Given the description of an element on the screen output the (x, y) to click on. 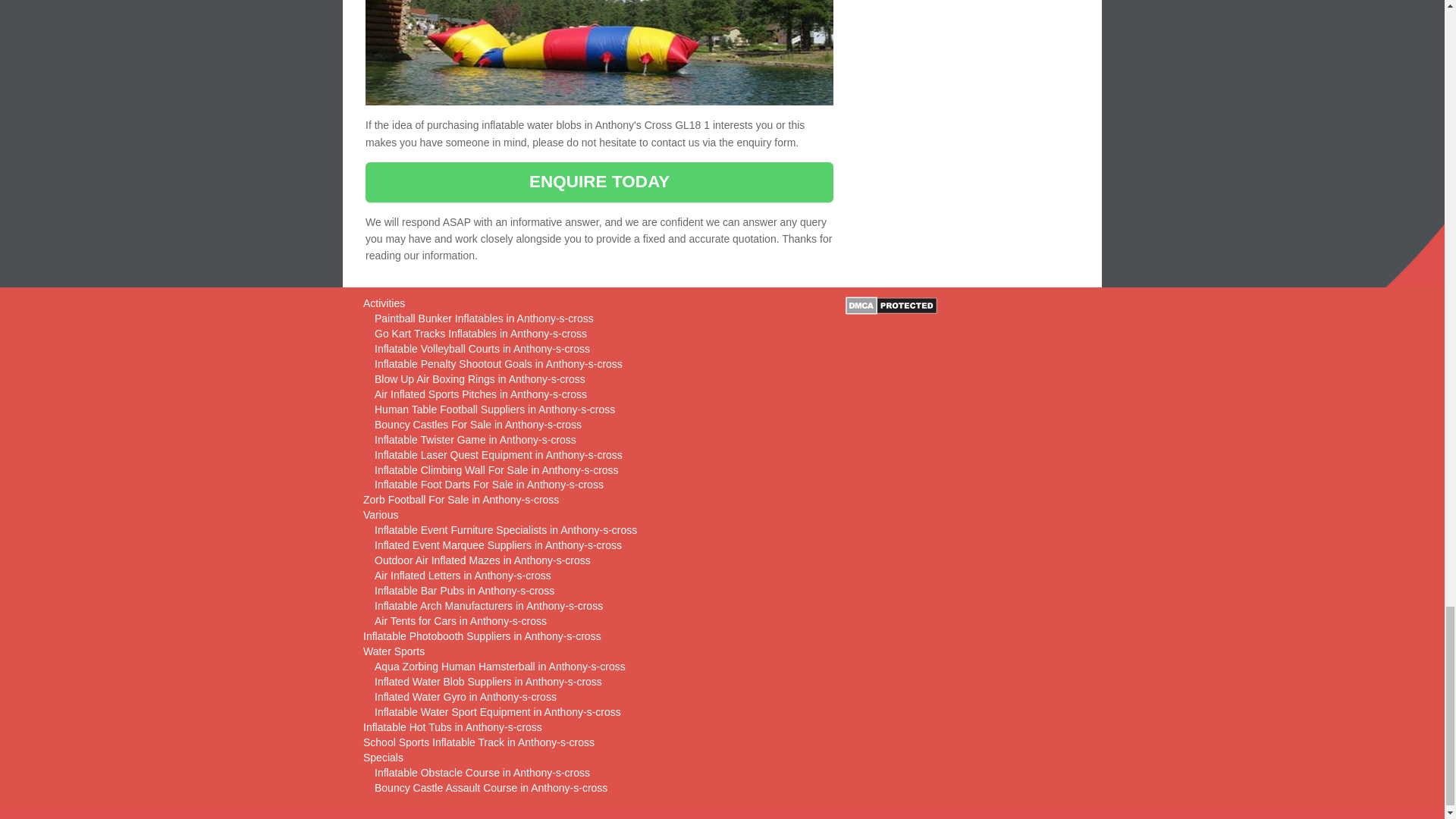
Water Blob (598, 52)
DMCA.com Protection Status (891, 304)
